Given the description of an element on the screen output the (x, y) to click on. 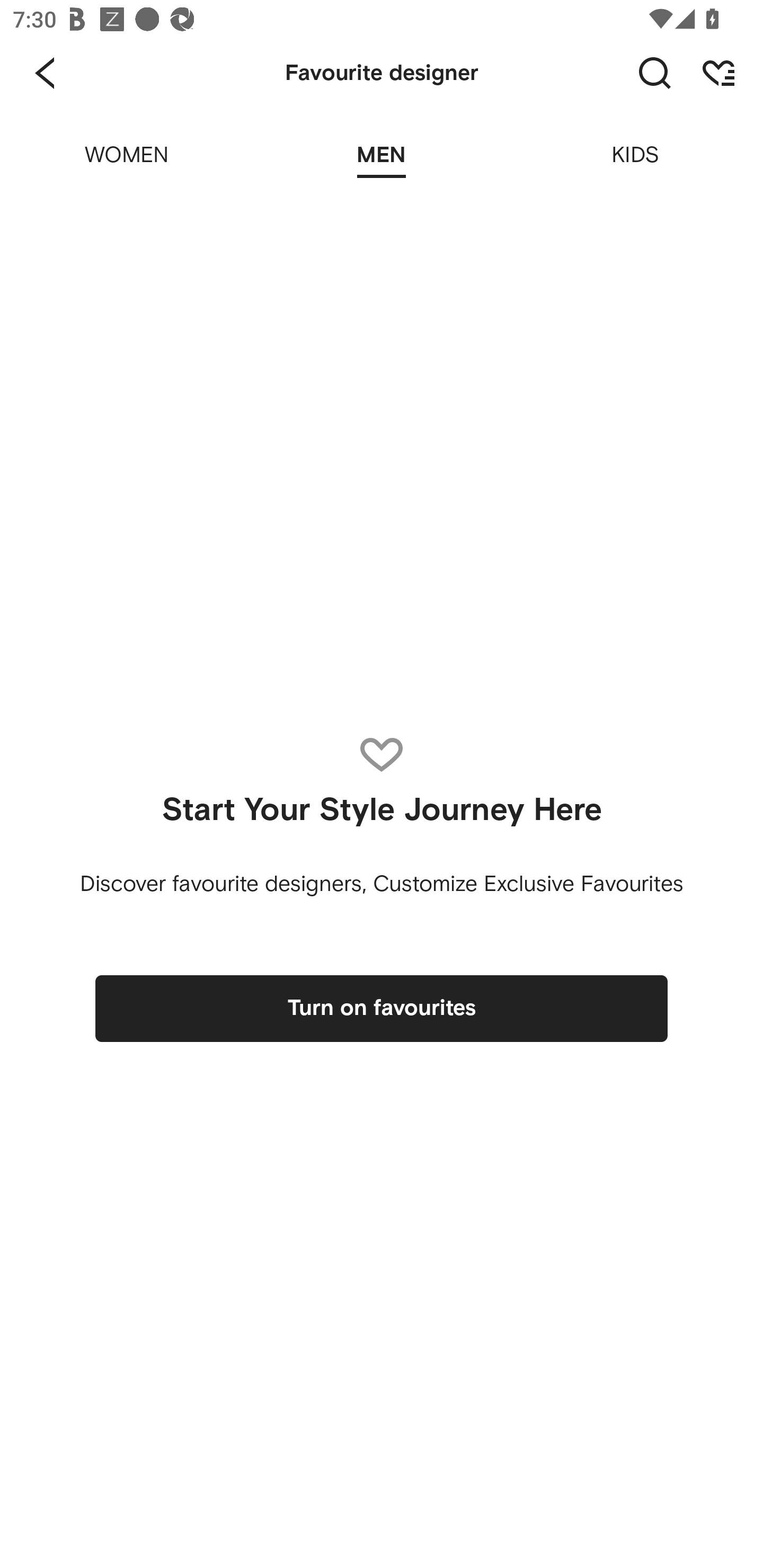
WOMEN (127, 143)
KIDS (635, 143)
Turn on favourites (381, 1008)
